Given the description of an element on the screen output the (x, y) to click on. 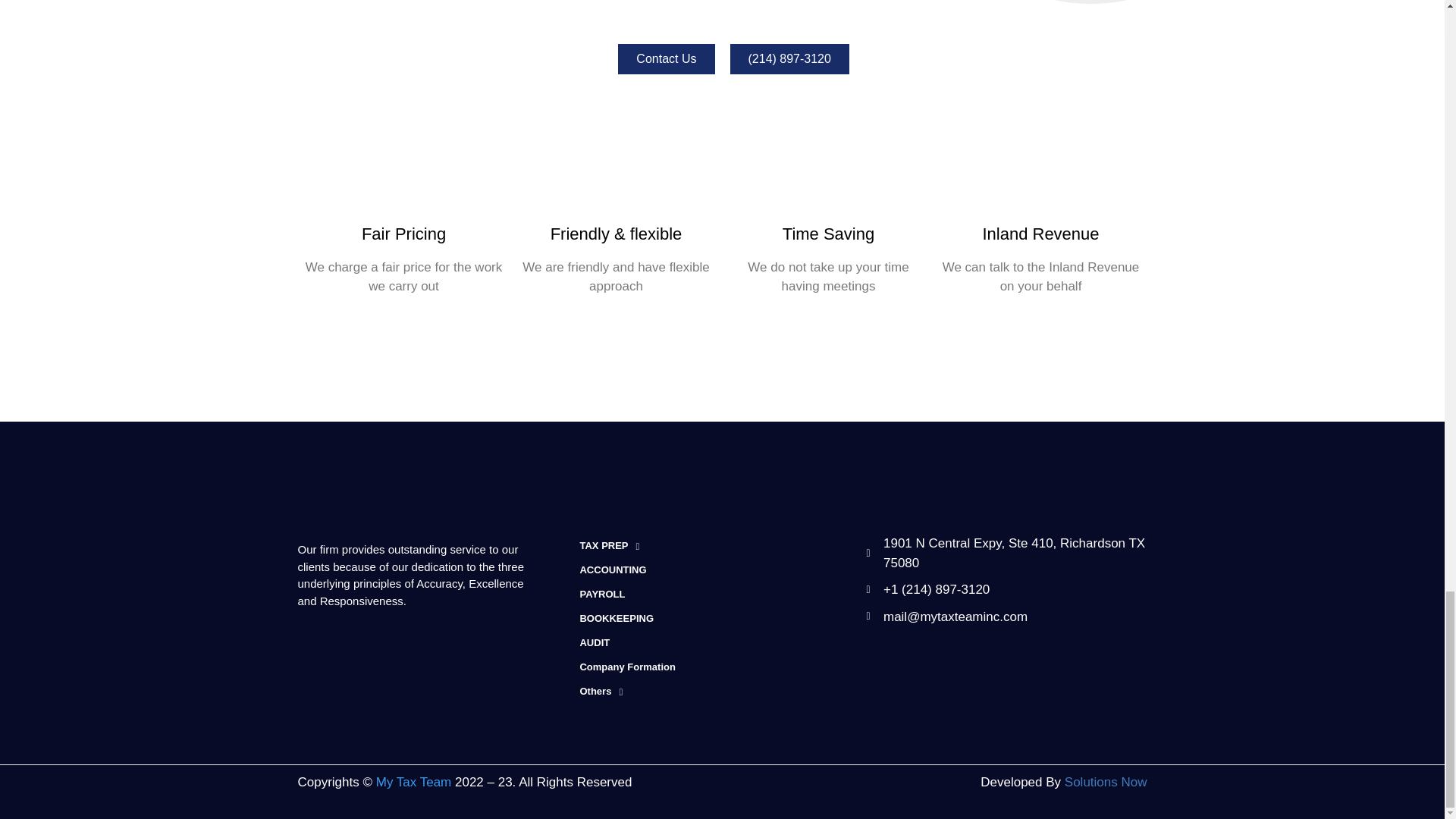
team (615, 172)
BOOKKEEPING (722, 618)
call-center (827, 172)
AUDIT (722, 642)
Company Formation (722, 667)
Contact Us (665, 59)
TAX PREP (722, 545)
discounts (403, 172)
PAYROLL (722, 594)
teamworknew (1040, 172)
ACCOUNTING (722, 569)
